Given the description of an element on the screen output the (x, y) to click on. 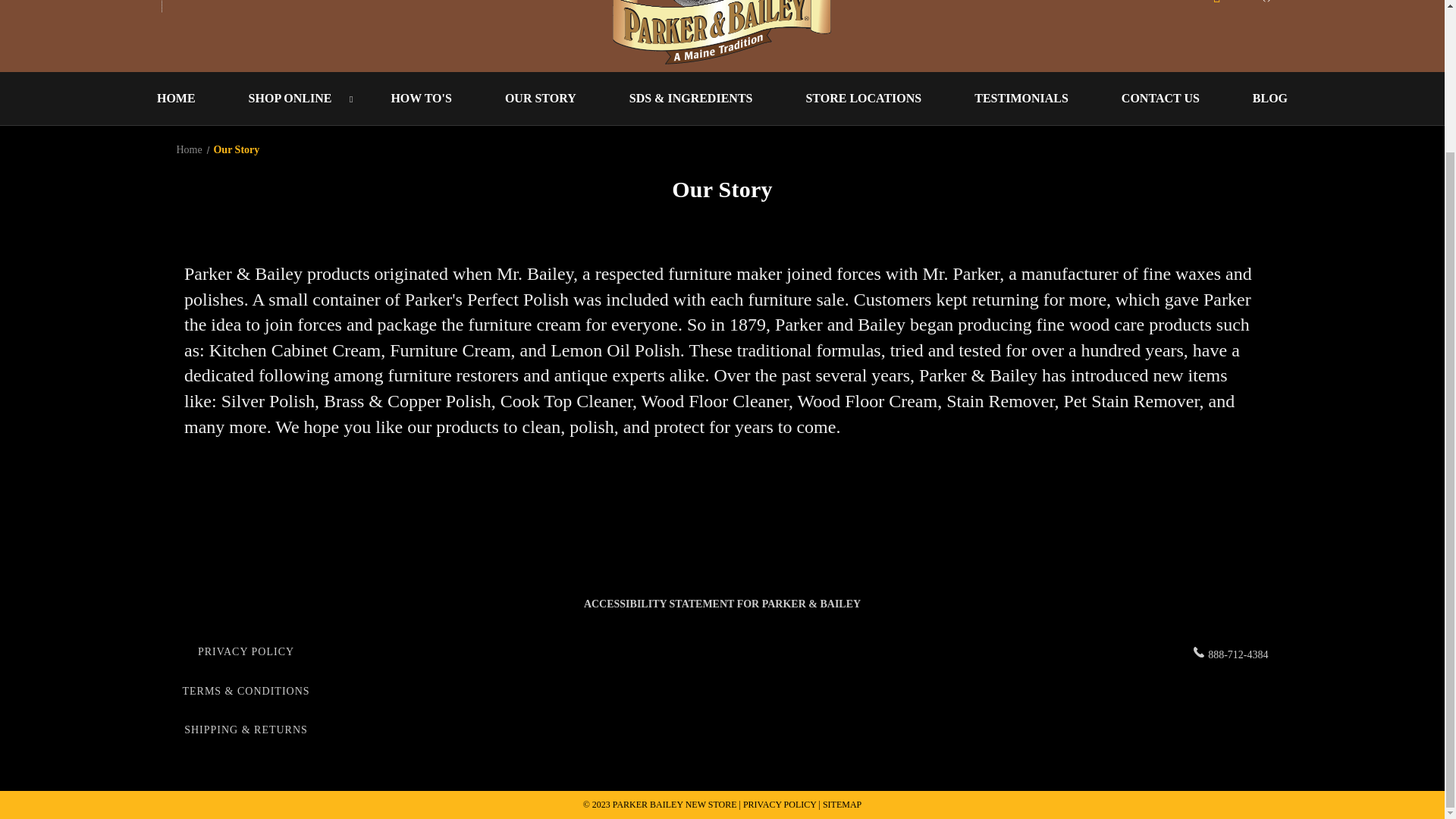
CART (1242, 6)
CONTACT US (1159, 98)
Parker Bailey new store (721, 33)
BLOG (1269, 98)
HOME (176, 98)
TESTIMONIALS (1020, 98)
OUR STORY (540, 98)
SHOP ONLINE (293, 98)
SEARCH (204, 5)
STORE LOCATIONS (862, 98)
HOW TO'S (420, 98)
